Given the description of an element on the screen output the (x, y) to click on. 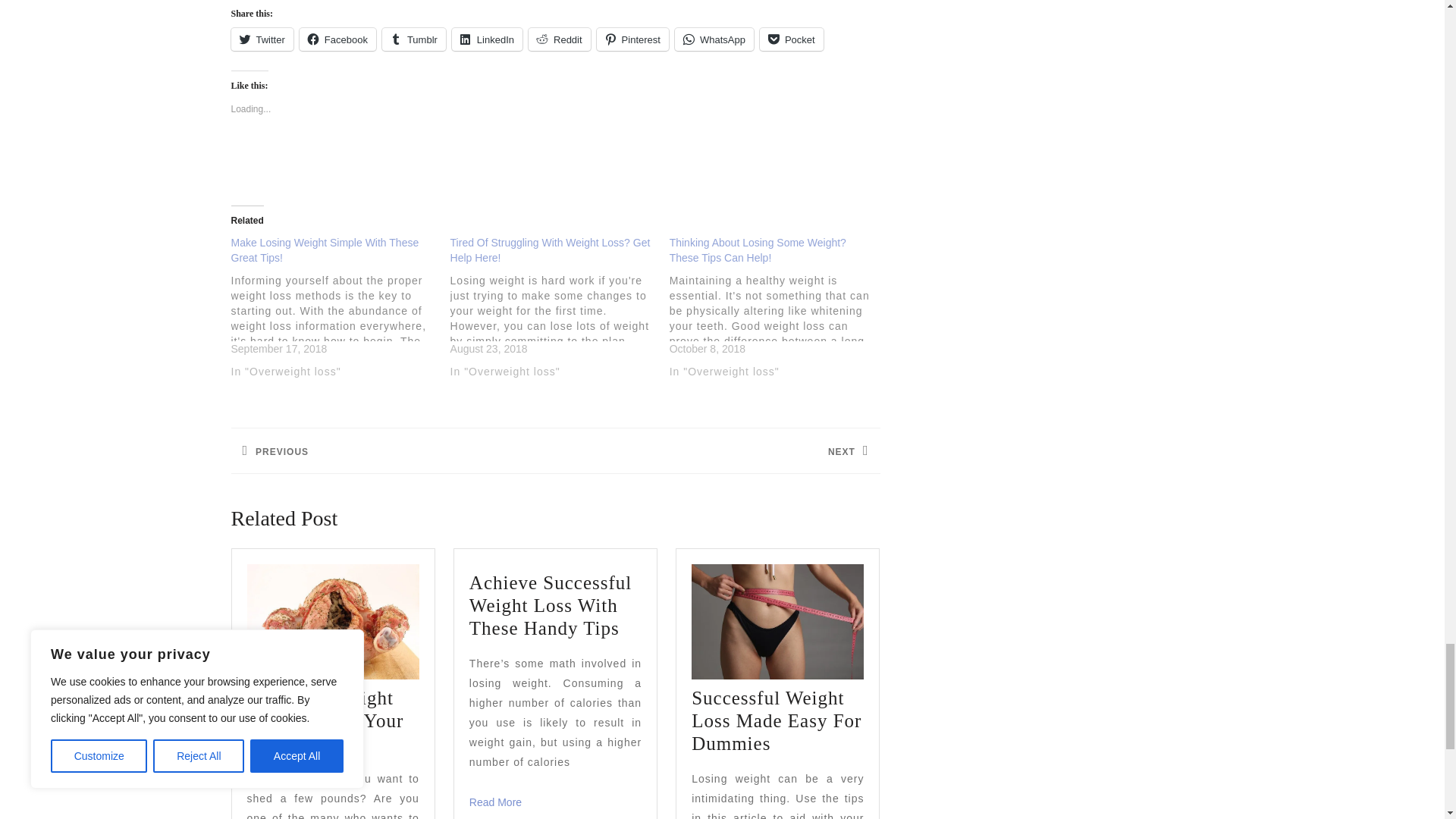
Click to share on Tumblr (413, 38)
Click to share on LinkedIn (486, 38)
Click to share on Facebook (337, 38)
Click to share on Twitter (261, 38)
LinkedIn (486, 38)
Twitter (261, 38)
Click to share on Pinterest (632, 38)
Facebook (337, 38)
Reddit (559, 38)
Click to share on Reddit (559, 38)
